Given the description of an element on the screen output the (x, y) to click on. 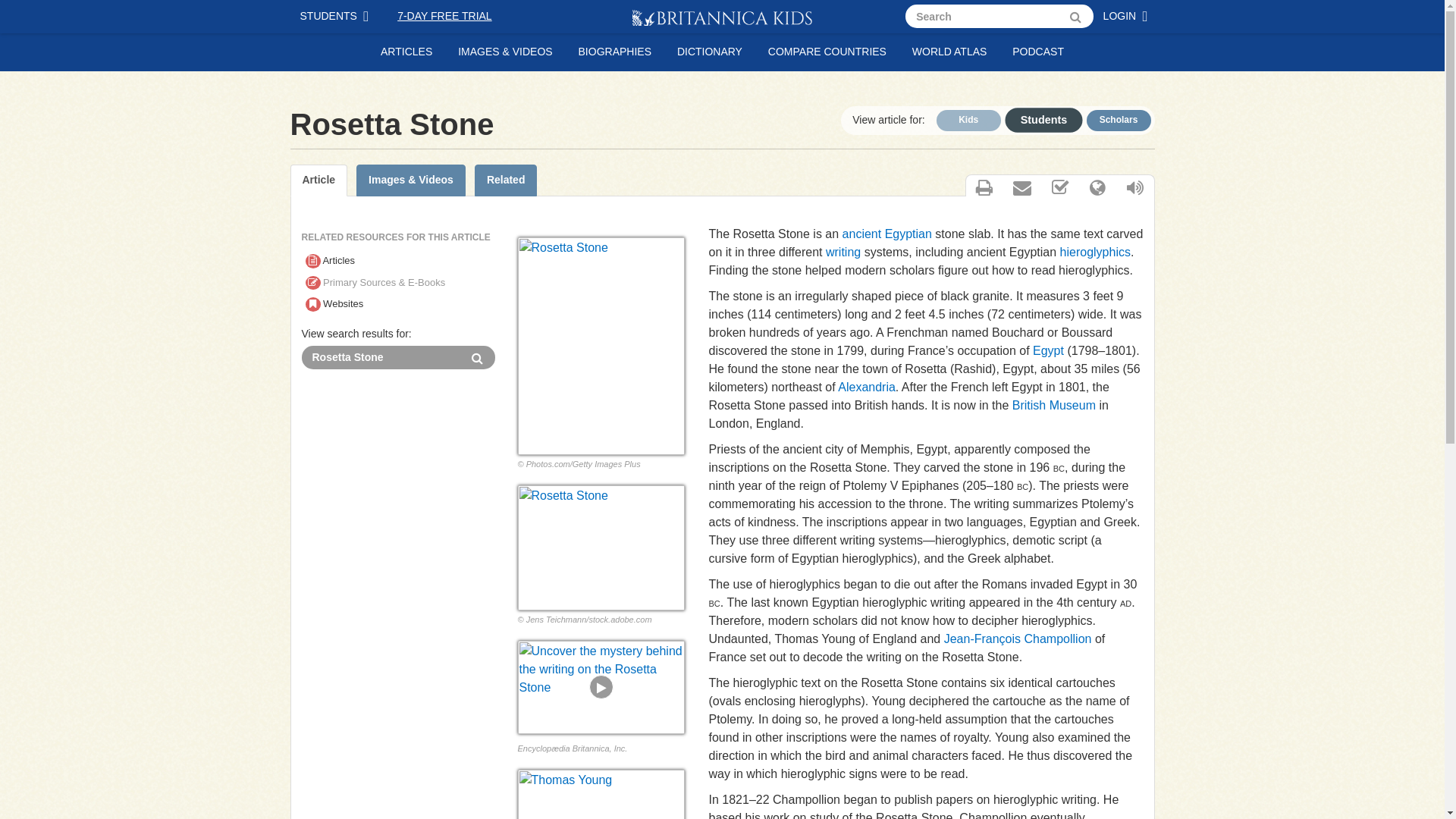
Uncover the mystery behind the writing on the Rosetta Stone (600, 686)
STUDENTS (336, 16)
Rosetta Stone (381, 357)
Thomas Young (600, 794)
Rosetta Stone (600, 547)
Grades 6-8 (1036, 118)
Grade 9 and Up (1118, 119)
Rosetta Stone (381, 357)
